Given the description of an element on the screen output the (x, y) to click on. 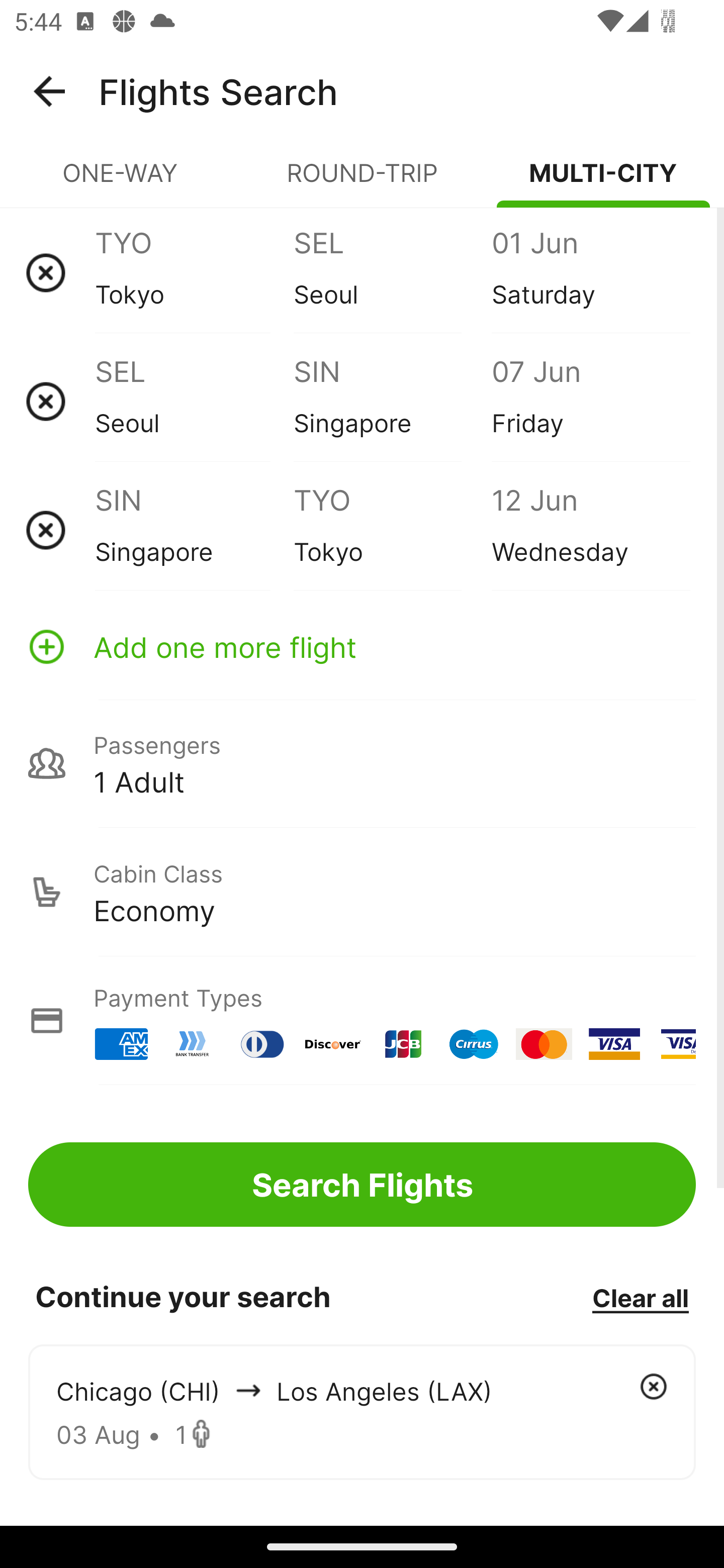
ONE-WAY (120, 180)
ROUND-TRIP (361, 180)
MULTI-CITY (603, 180)
TYO Tokyo (193, 272)
SEL Seoul (392, 272)
01 Jun Saturday (590, 272)
SEL Seoul (193, 401)
SIN Singapore (392, 401)
07 Jun Friday (590, 401)
SIN Singapore (193, 529)
TYO Tokyo (392, 529)
12 Jun Wednesday (590, 529)
Add one more flight (362, 646)
Passengers 1 Adult (362, 762)
Cabin Class Economy (362, 891)
Payment Types (362, 1020)
Search Flights (361, 1184)
Clear all (640, 1297)
